Given the description of an element on the screen output the (x, y) to click on. 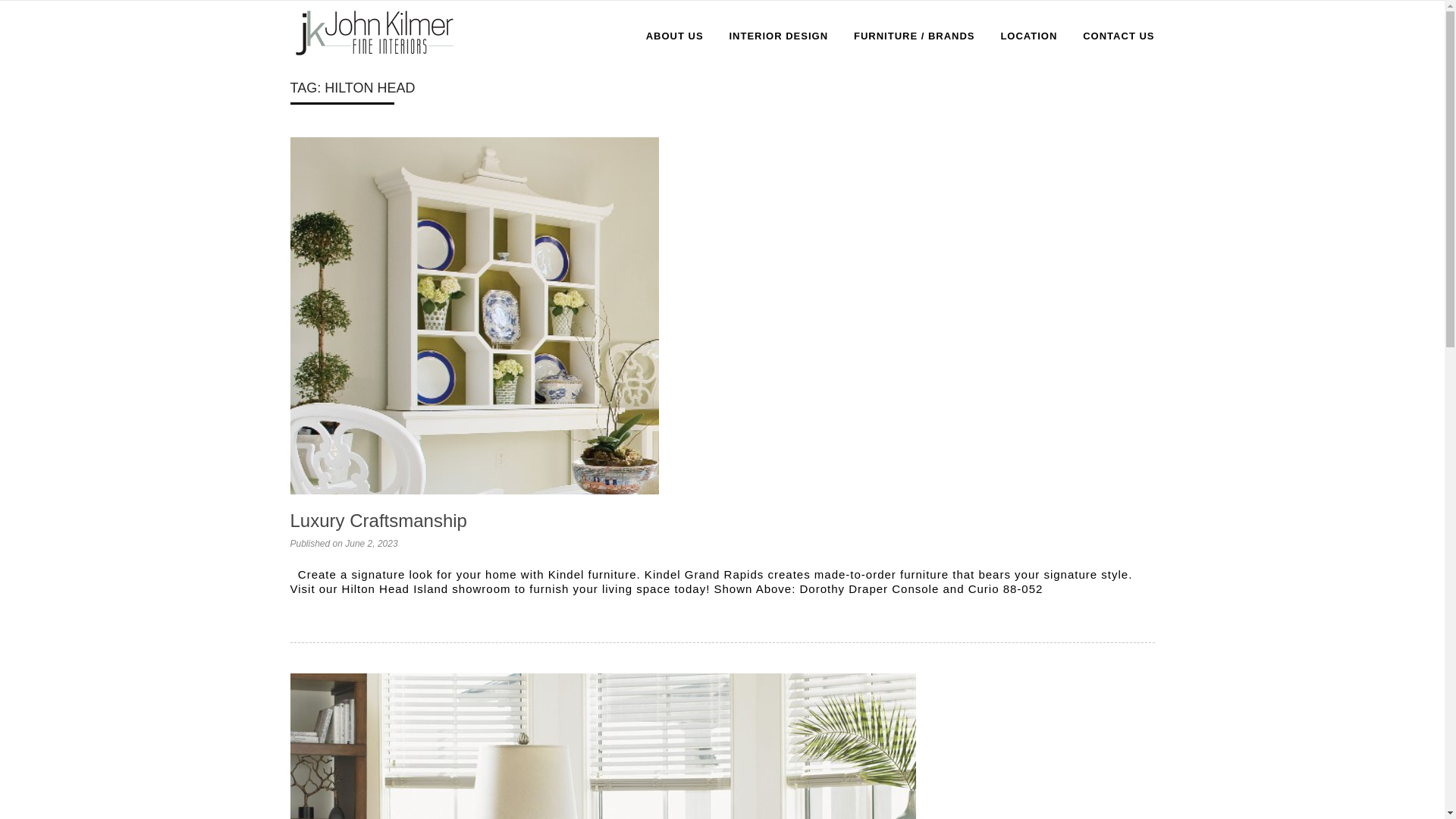
June 2, 2023 (371, 543)
LOCATION (1028, 36)
Hilton Head Furniture Stores - Luxury Craftsmanship (373, 33)
ABOUT US (674, 36)
CONTACT US (1118, 36)
Luxury Craftsmanship (473, 315)
INTERIOR DESIGN (377, 520)
